Given the description of an element on the screen output the (x, y) to click on. 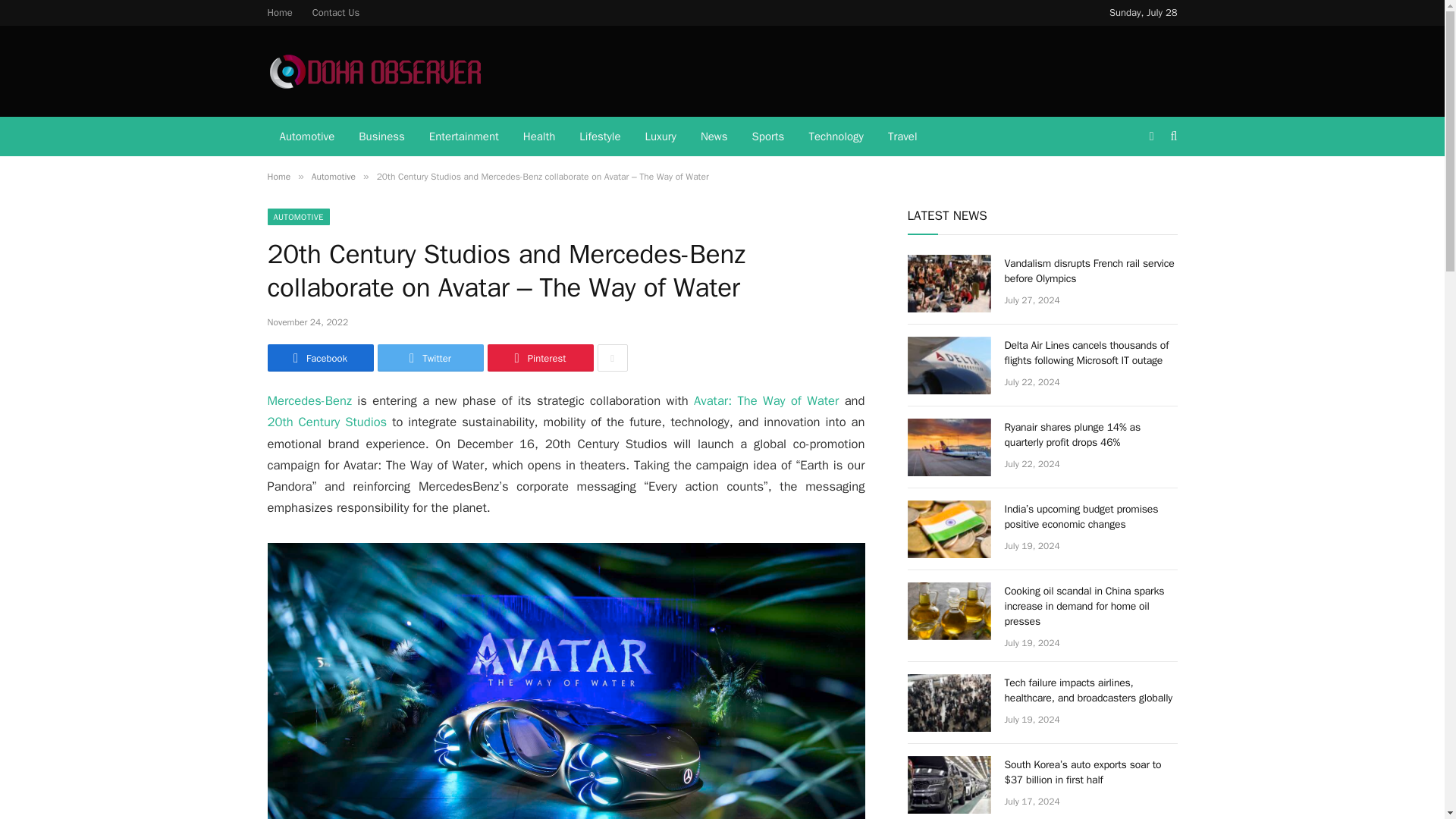
Travel (903, 136)
Pinterest (539, 357)
Luxury (660, 136)
Doha Observer (373, 70)
Twitter (430, 357)
Home (279, 12)
Home (277, 176)
Contact Us (335, 12)
Technology (836, 136)
Share on Pinterest (539, 357)
Automotive (333, 176)
Business (381, 136)
Facebook (319, 357)
AUTOMOTIVE (297, 216)
Sports (767, 136)
